Given the description of an element on the screen output the (x, y) to click on. 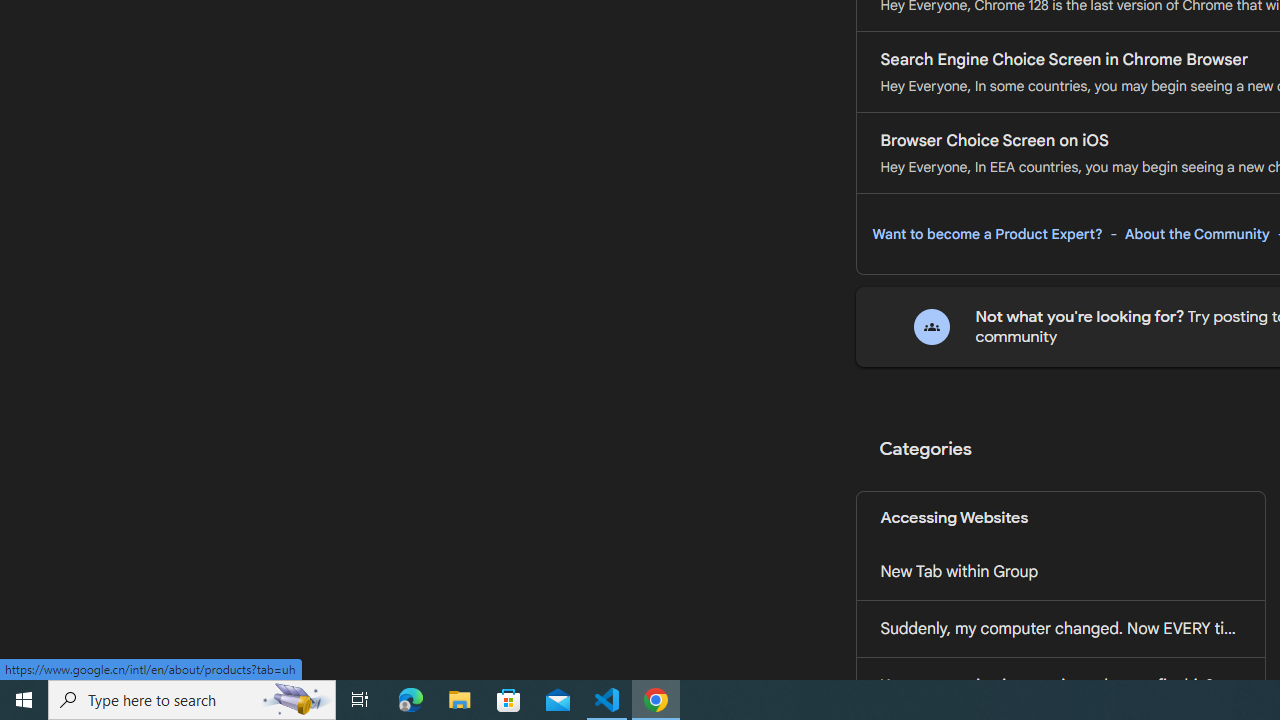
About the Community (1197, 233)
Want to become a Product Expert? (987, 233)
